Given the description of an element on the screen output the (x, y) to click on. 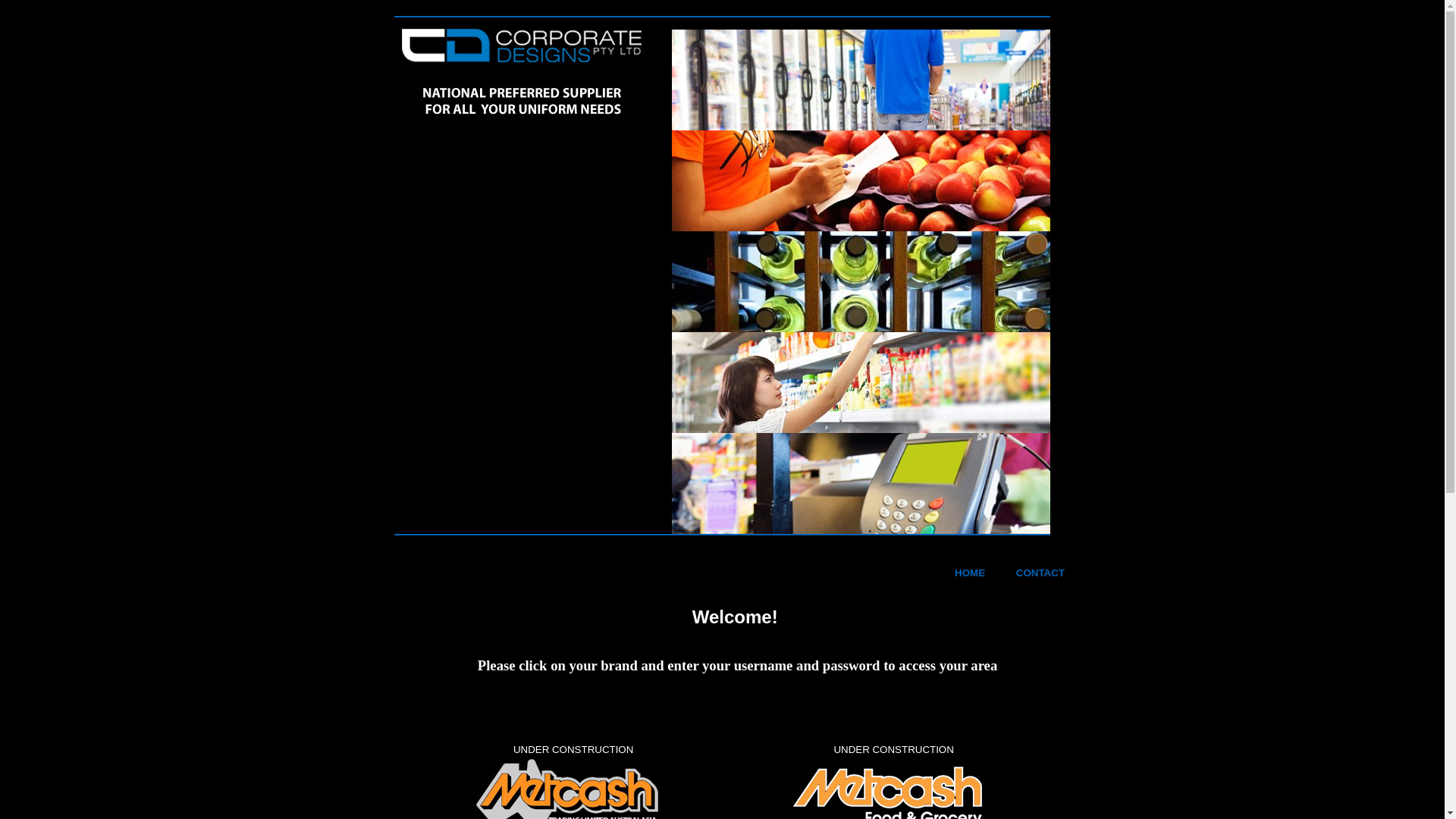
HOME Element type: text (969, 572)
image3 Element type: hover (860, 281)
CONTACT Element type: text (1040, 572)
image4 Element type: hover (860, 382)
image1 Element type: hover (860, 79)
image2 Element type: hover (860, 180)
image5 Element type: hover (860, 483)
